Given the description of an element on the screen output the (x, y) to click on. 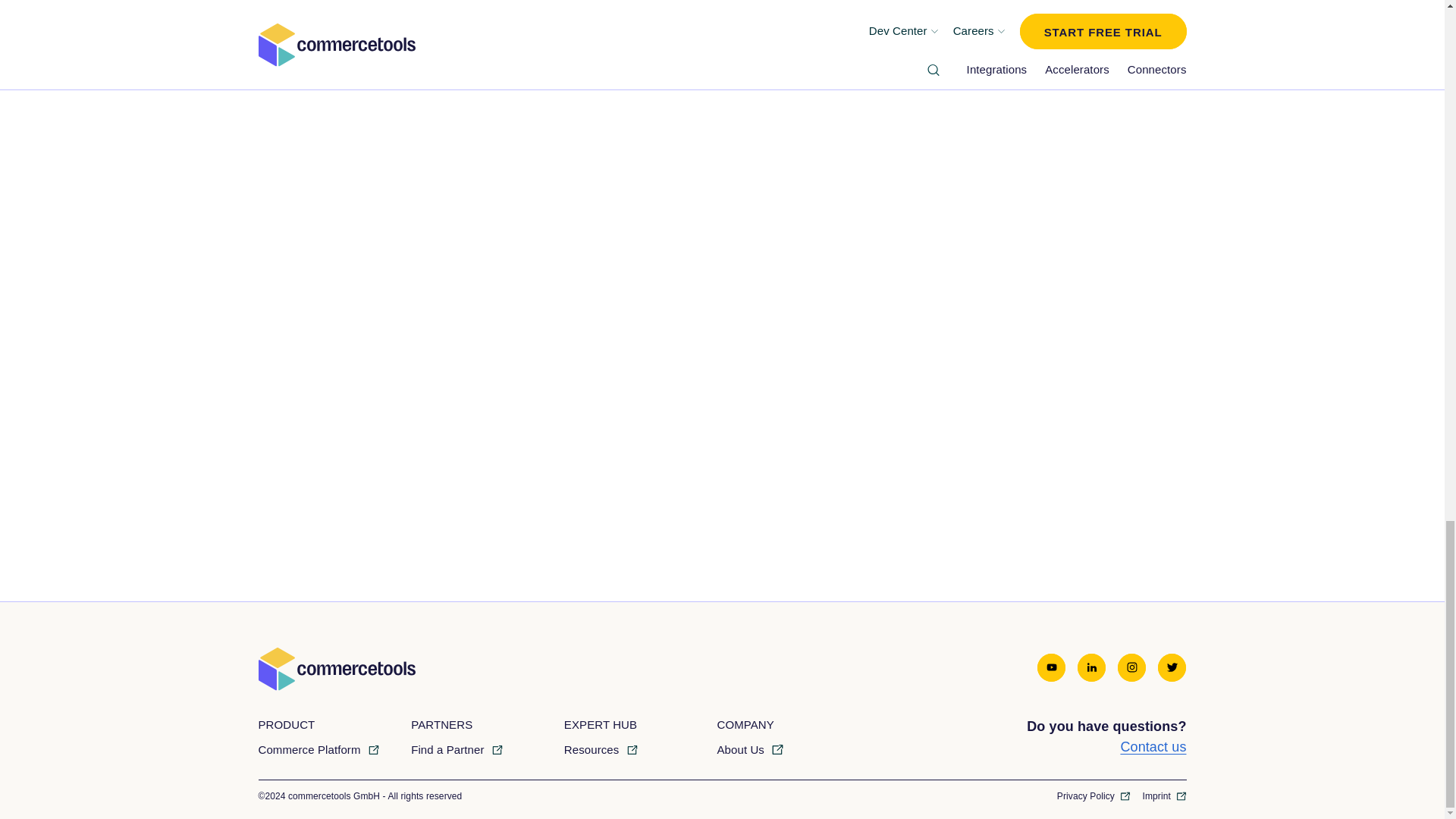
Resources (601, 748)
Resources (601, 748)
Privacy Policy (1094, 796)
Commerce Platform (318, 748)
Commercetools (523, 669)
Contact us (1152, 746)
twitter (1171, 668)
Find a Partner (456, 748)
youtube (1050, 668)
linkedin (1091, 668)
